Given the description of an element on the screen output the (x, y) to click on. 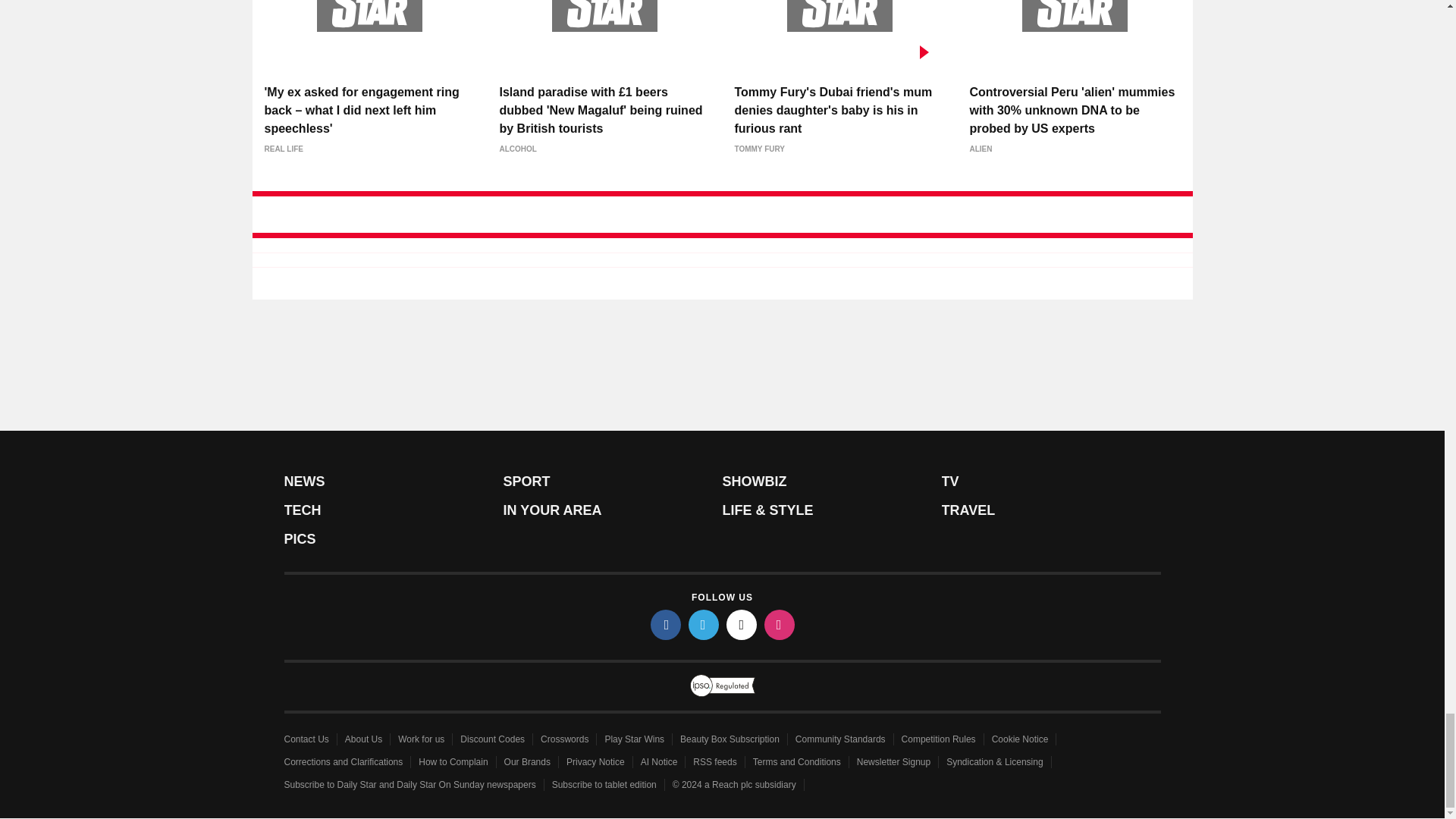
tiktok (741, 624)
twitter (703, 624)
facebook (665, 624)
instagram (779, 624)
